Given the description of an element on the screen output the (x, y) to click on. 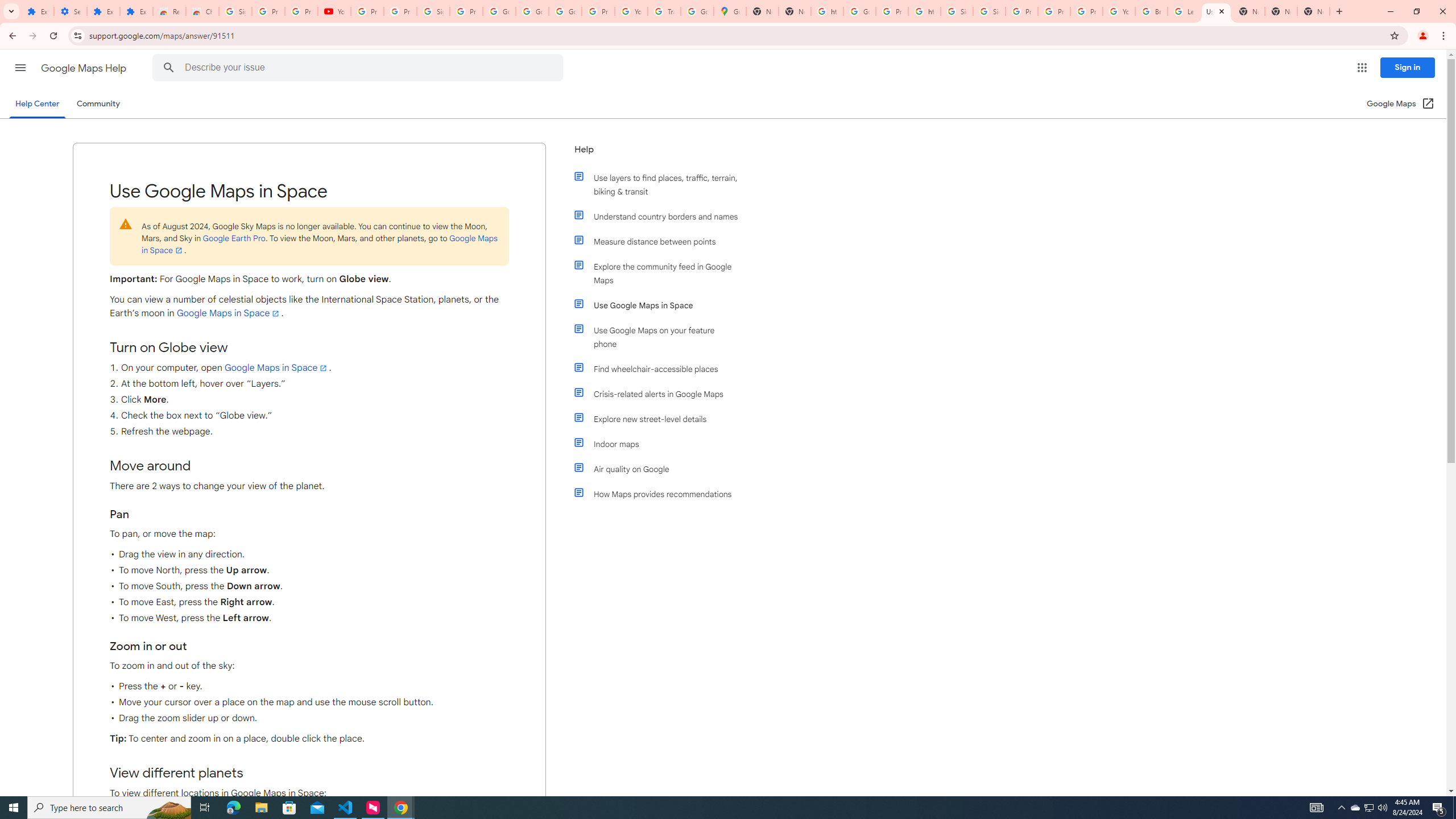
New Tab (1313, 11)
New Tab (1281, 11)
Explore new street-level details (661, 419)
Measure distance between points (661, 241)
Indoor maps (661, 444)
Explore the community feed in Google Maps (661, 273)
Crisis-related alerts in Google Maps (661, 394)
Privacy Help Center - Policies Help (1053, 11)
Understand country borders and names (661, 216)
